Given the description of an element on the screen output the (x, y) to click on. 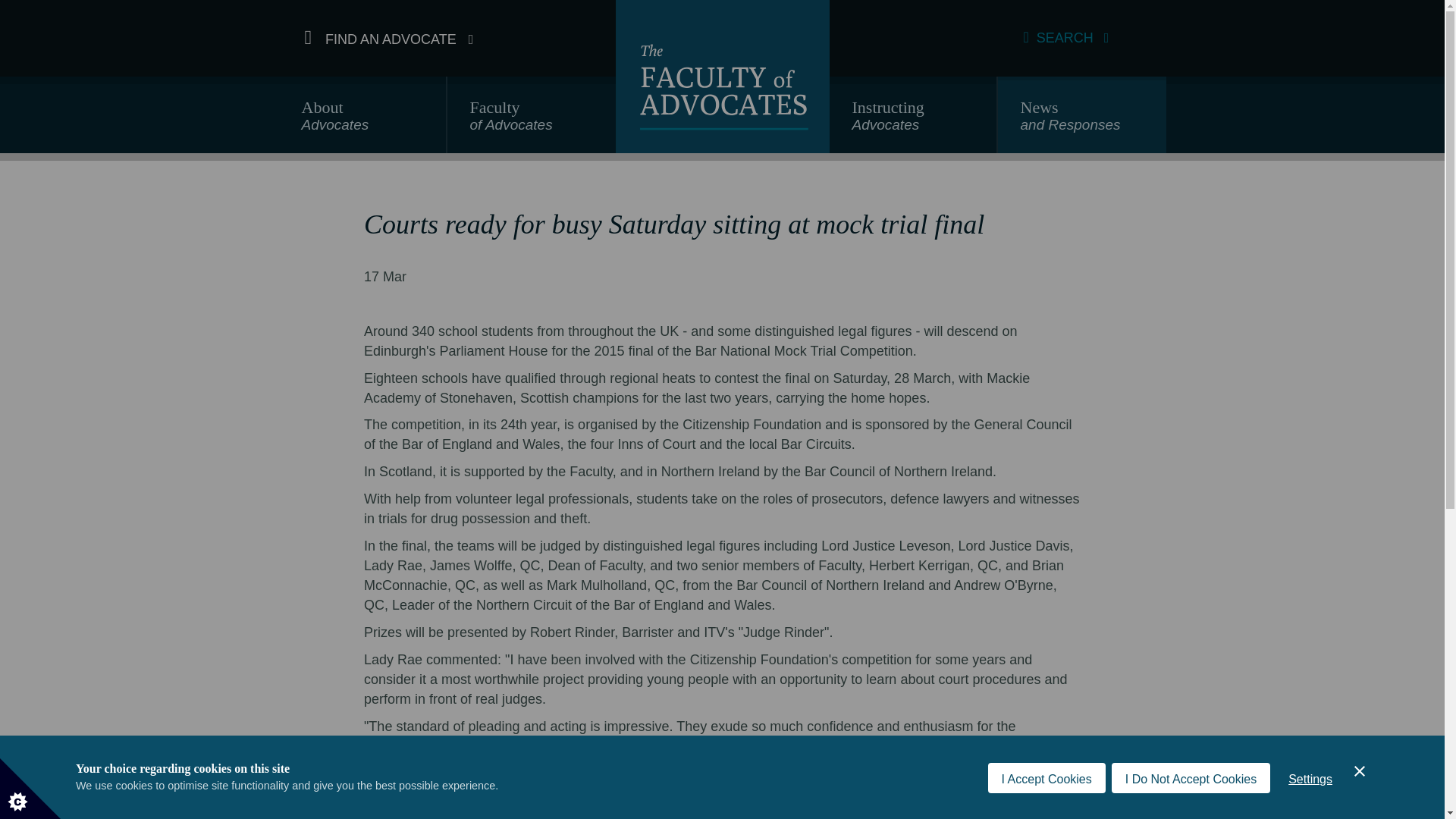
FIND AN ADVOCATE (912, 122)
SEARCH (389, 38)
Settings (362, 122)
